Given the description of an element on the screen output the (x, y) to click on. 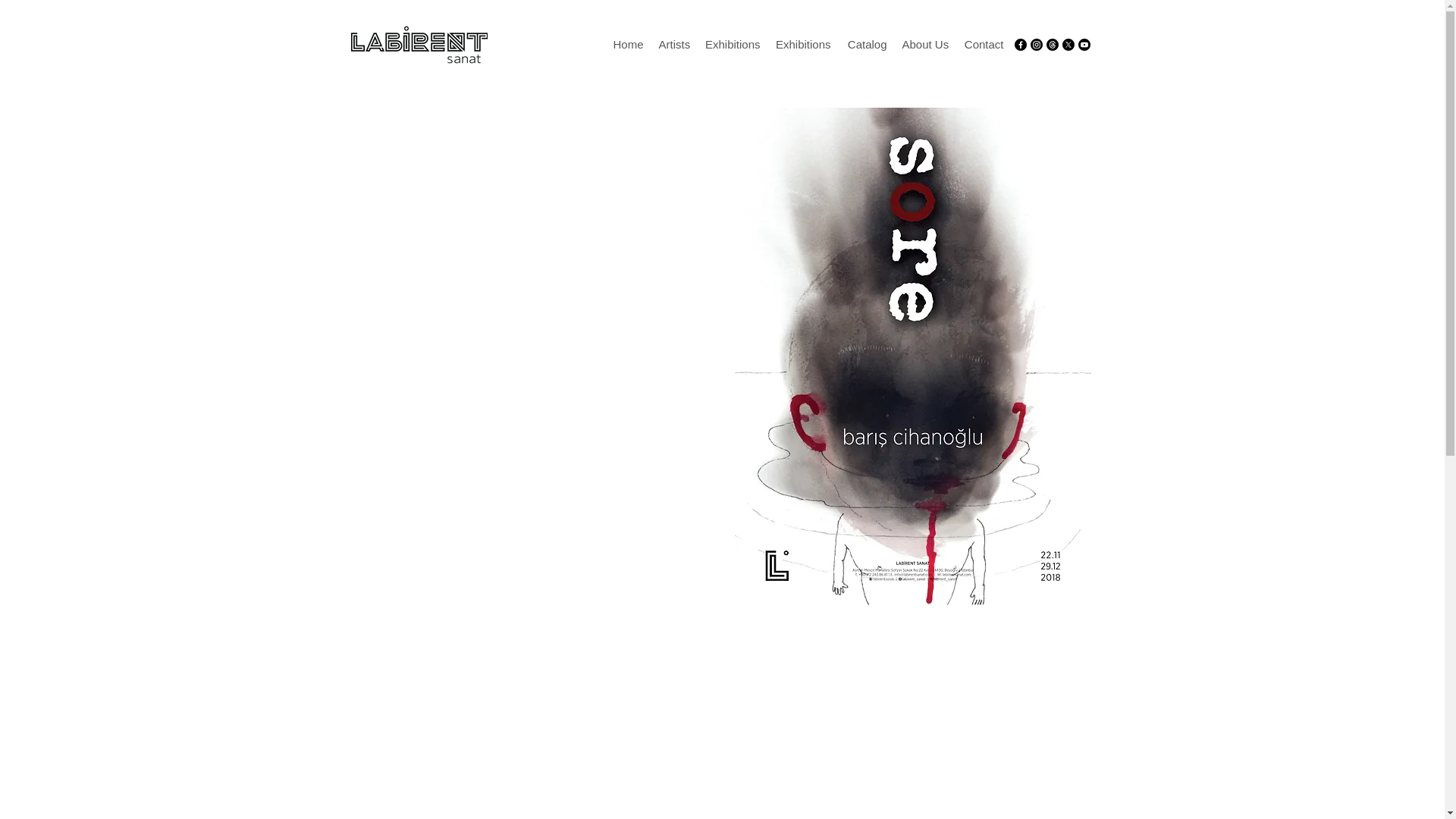
Contact (982, 44)
Home (627, 44)
Labirent Sanat (418, 44)
Artists (673, 44)
Exhibitions (802, 44)
Catalog (866, 44)
About Us (925, 44)
Exhibitions (732, 44)
